Given the description of an element on the screen output the (x, y) to click on. 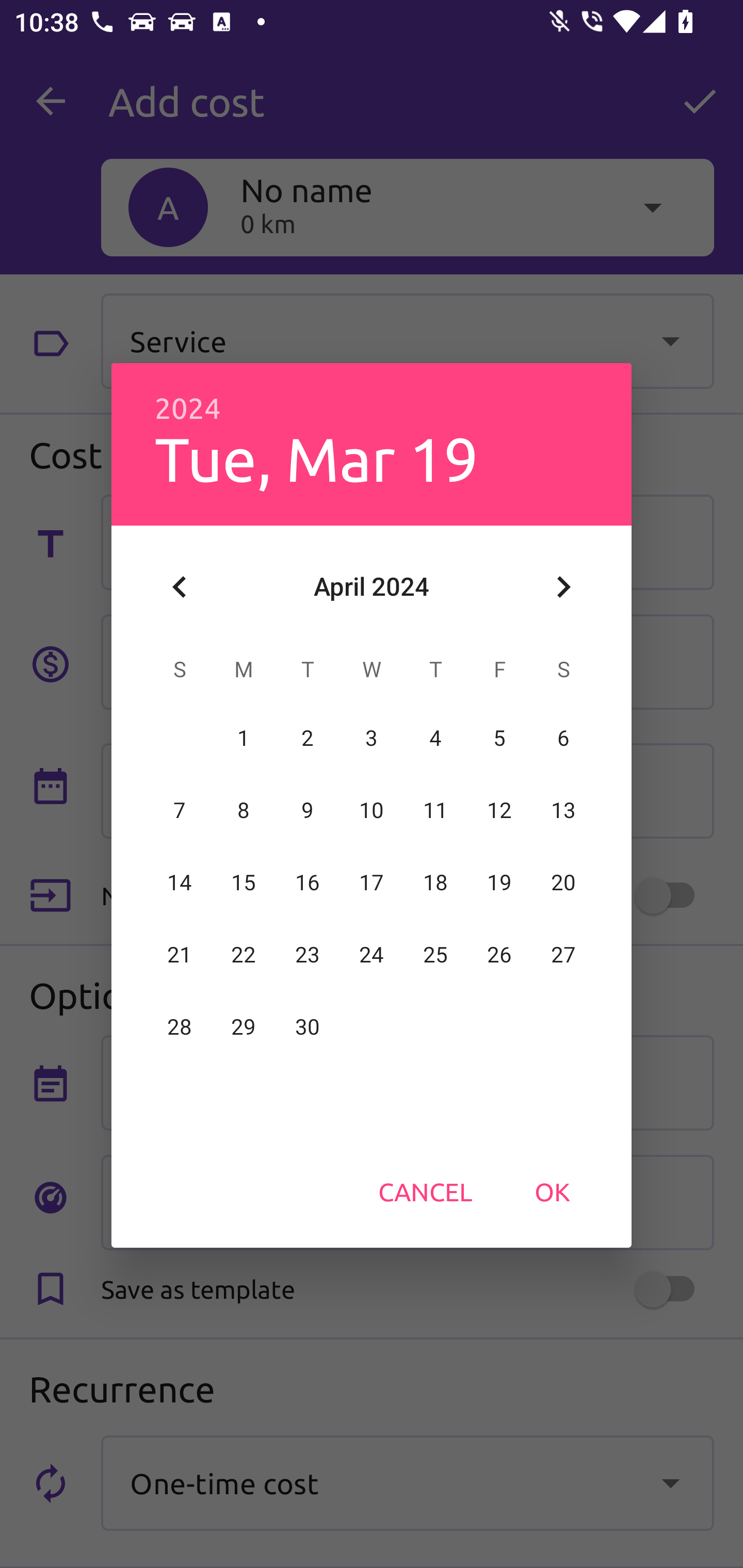
2024 (187, 408)
Tue, Mar 19 (316, 458)
Previous month (178, 587)
Next month (563, 587)
1 01 April 2024 (243, 738)
2 02 April 2024 (307, 738)
3 03 April 2024 (371, 738)
4 04 April 2024 (435, 738)
5 05 April 2024 (499, 738)
6 06 April 2024 (563, 738)
7 07 April 2024 (179, 810)
8 08 April 2024 (243, 810)
9 09 April 2024 (307, 810)
10 10 April 2024 (371, 810)
11 11 April 2024 (435, 810)
12 12 April 2024 (499, 810)
13 13 April 2024 (563, 810)
14 14 April 2024 (179, 882)
15 15 April 2024 (243, 882)
16 16 April 2024 (307, 882)
17 17 April 2024 (371, 882)
18 18 April 2024 (435, 882)
19 19 April 2024 (499, 882)
20 20 April 2024 (563, 882)
21 21 April 2024 (179, 954)
22 22 April 2024 (243, 954)
23 23 April 2024 (307, 954)
24 24 April 2024 (371, 954)
25 25 April 2024 (435, 954)
26 26 April 2024 (499, 954)
27 27 April 2024 (563, 954)
28 28 April 2024 (179, 1026)
29 29 April 2024 (243, 1026)
30 30 April 2024 (307, 1026)
CANCEL (425, 1191)
OK (552, 1191)
